Given the description of an element on the screen output the (x, y) to click on. 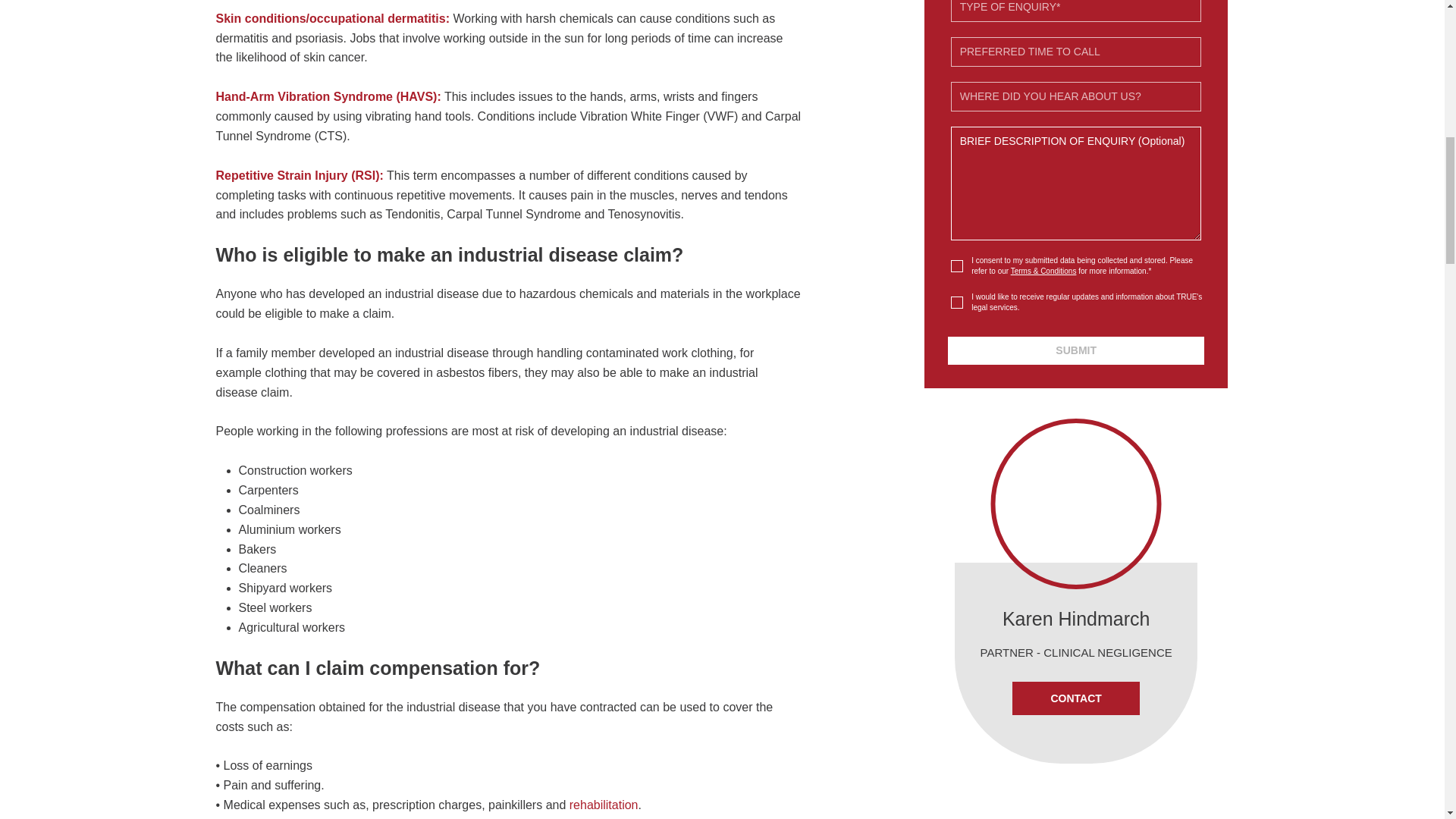
Submit (1076, 350)
